Given the description of an element on the screen output the (x, y) to click on. 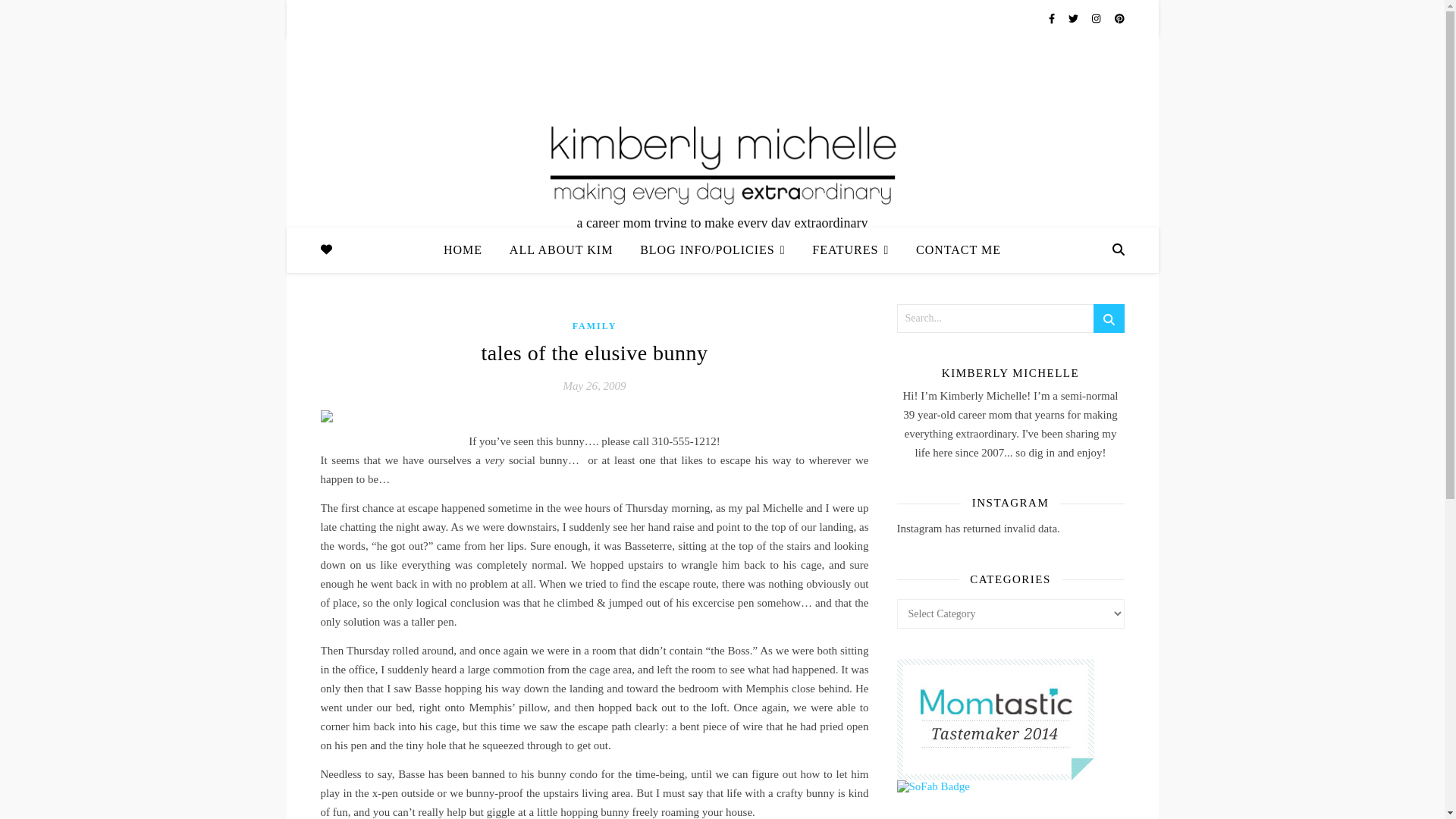
SoFab Badge (1010, 785)
FEATURES (850, 249)
HOME (469, 249)
Kimberly Michelle (721, 162)
CONTACT ME (952, 249)
ALL ABOUT KIM (561, 249)
